Given the description of an element on the screen output the (x, y) to click on. 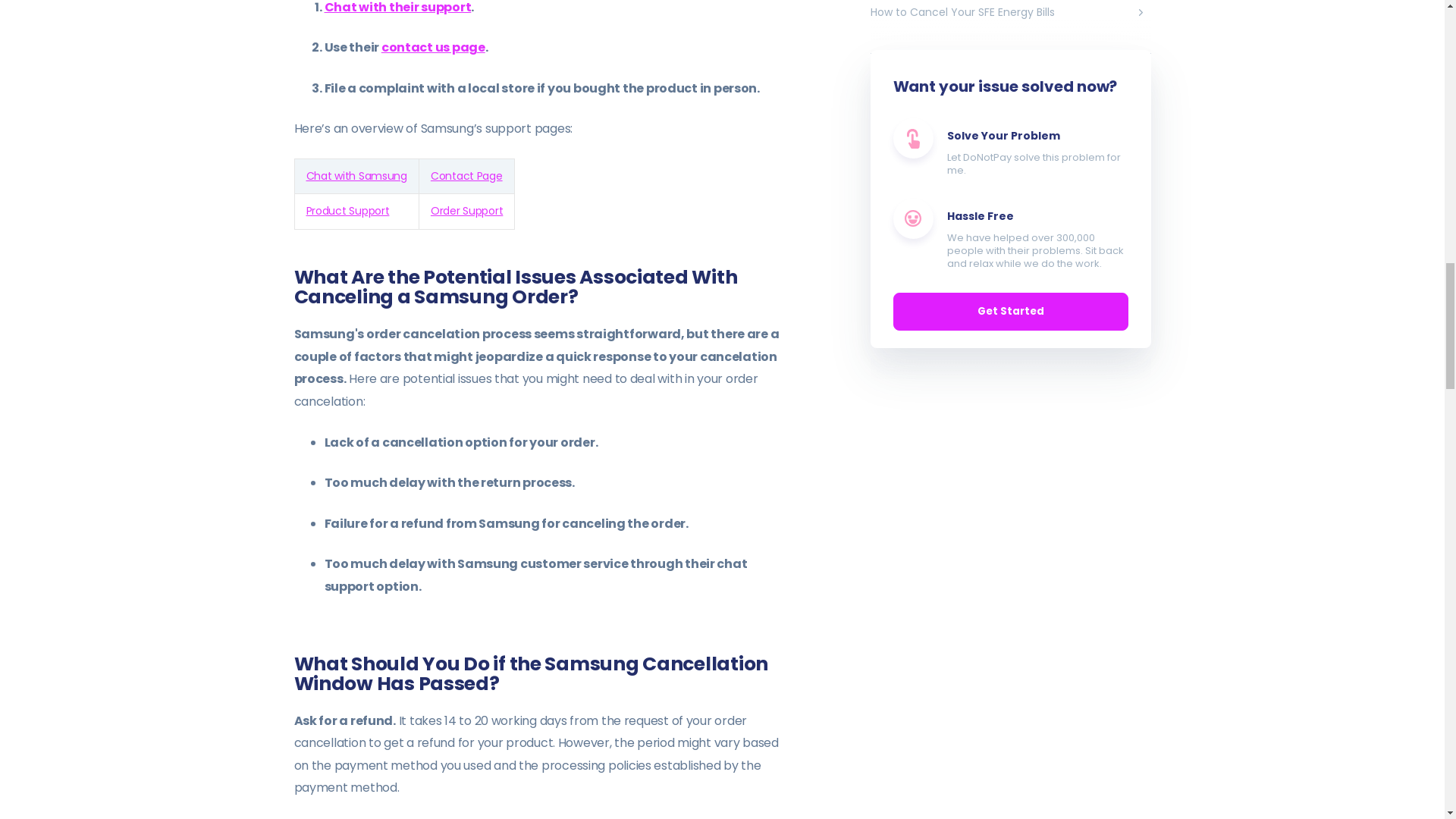
Order Support (466, 210)
Product Support (347, 210)
Contact Page (466, 175)
Chat with their support (397, 7)
contact us page (432, 47)
Chat with Samsung (356, 175)
